Given the description of an element on the screen output the (x, y) to click on. 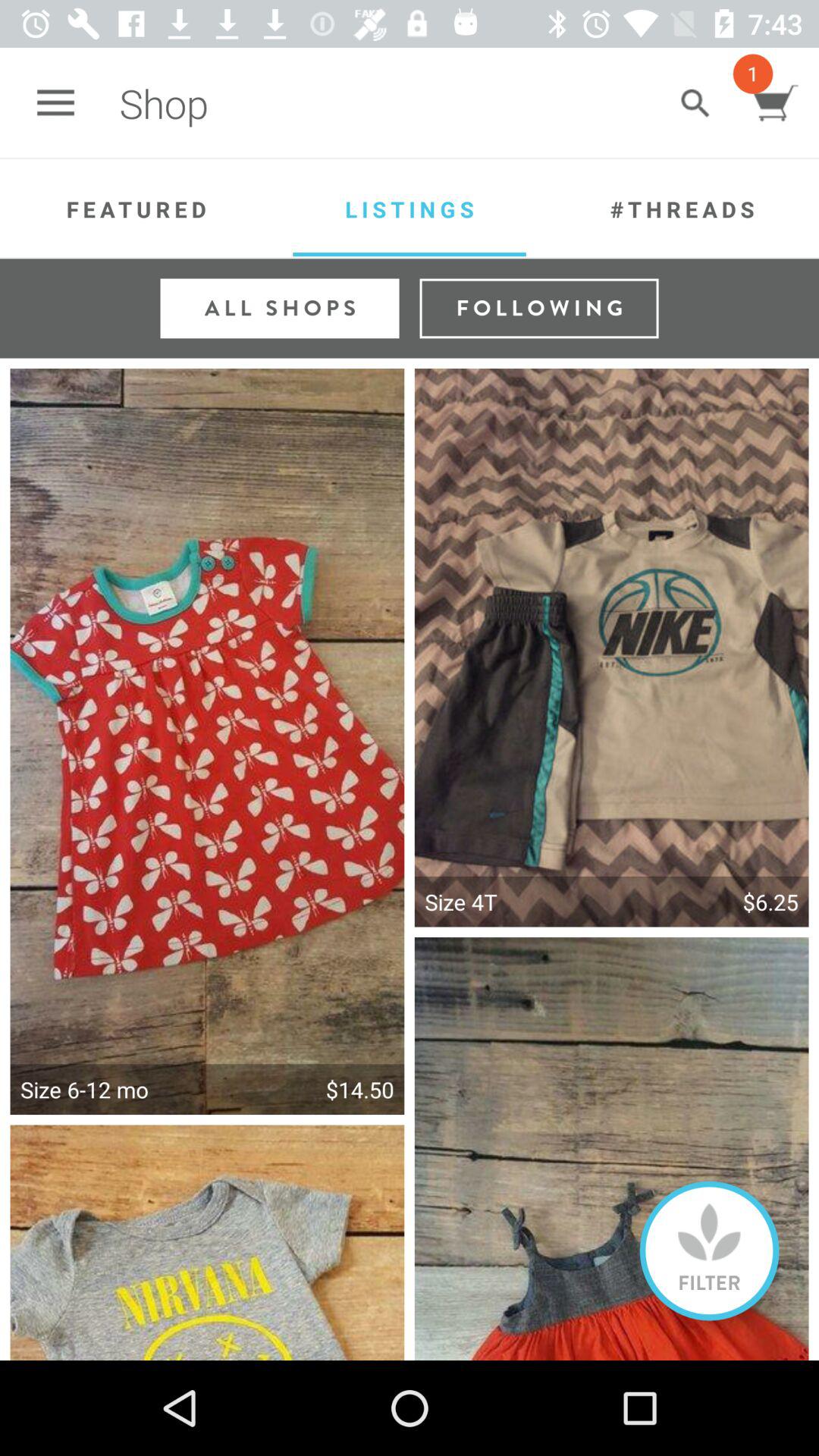
open the item to the left of following item (279, 308)
